Given the description of an element on the screen output the (x, y) to click on. 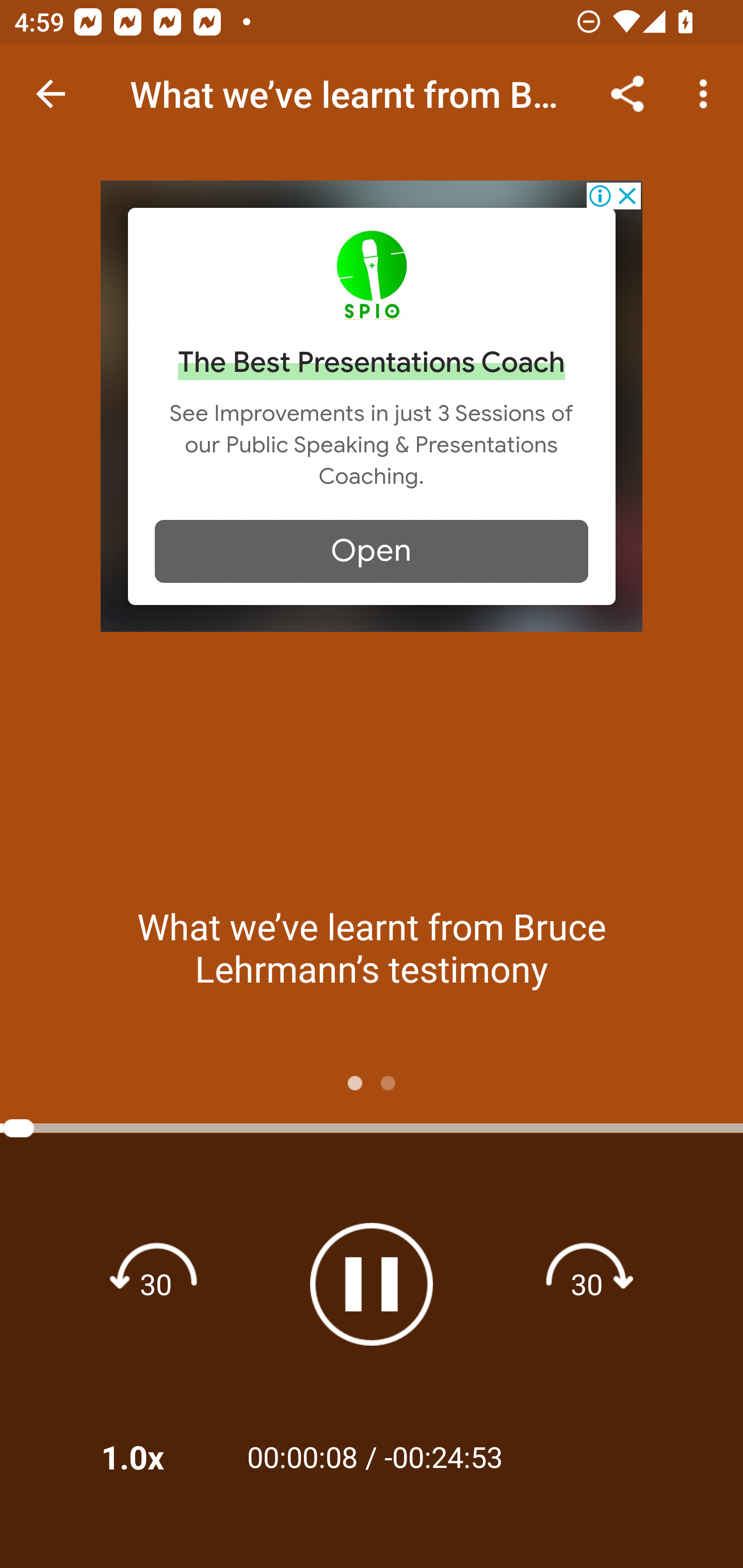
Navigate up (50, 93)
Share... (626, 93)
More options (706, 93)
www.spio (371, 274)
The Best Presentations Coach (371, 362)
Open (371, 550)
Pause (371, 1284)
Rewind (155, 1282)
Fast forward (586, 1282)
1.0x Playback Speeds (158, 1456)
-00:24:53 (443, 1455)
